Given the description of an element on the screen output the (x, y) to click on. 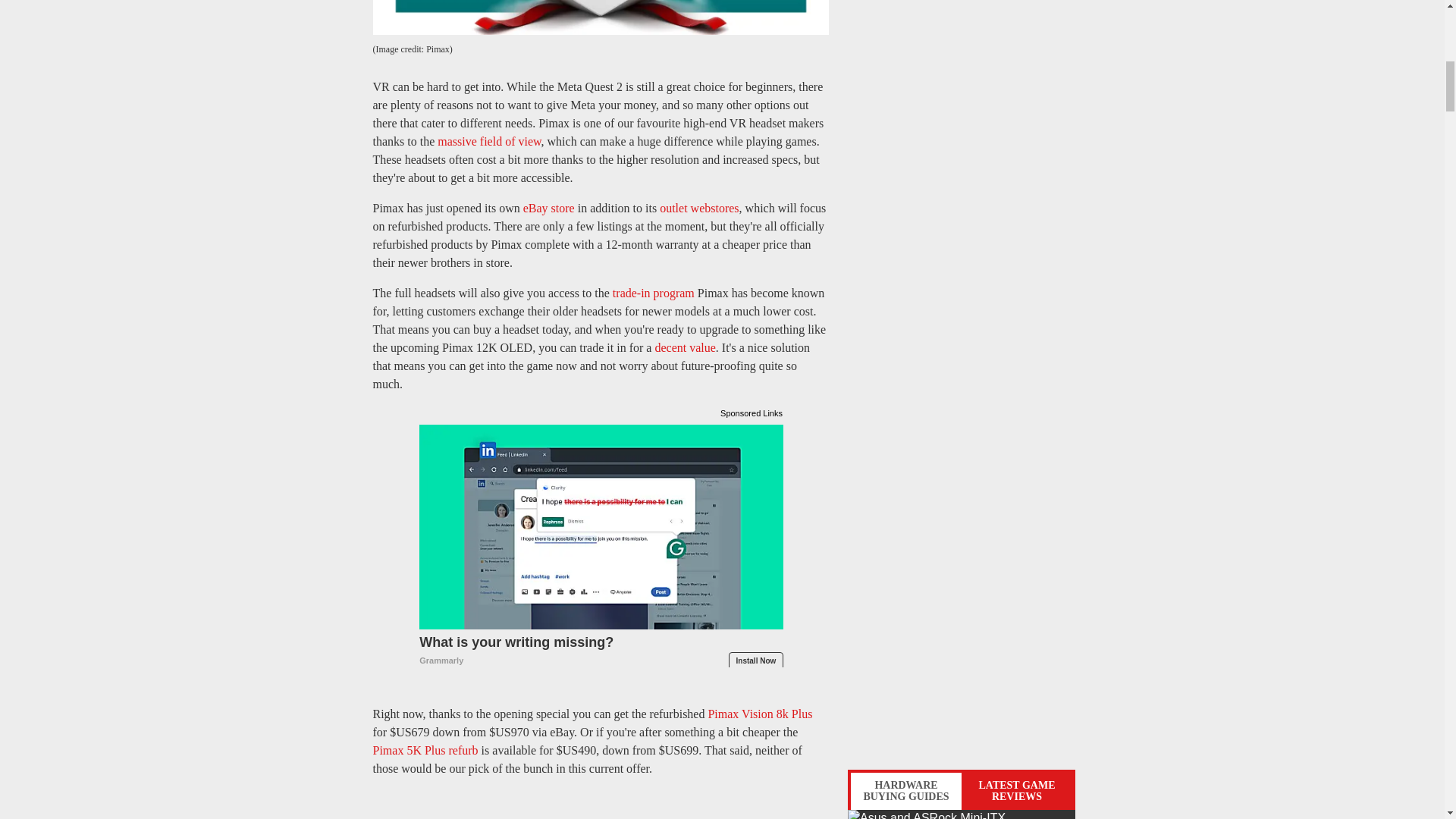
What is your writing missing? (601, 651)
